Given the description of an element on the screen output the (x, y) to click on. 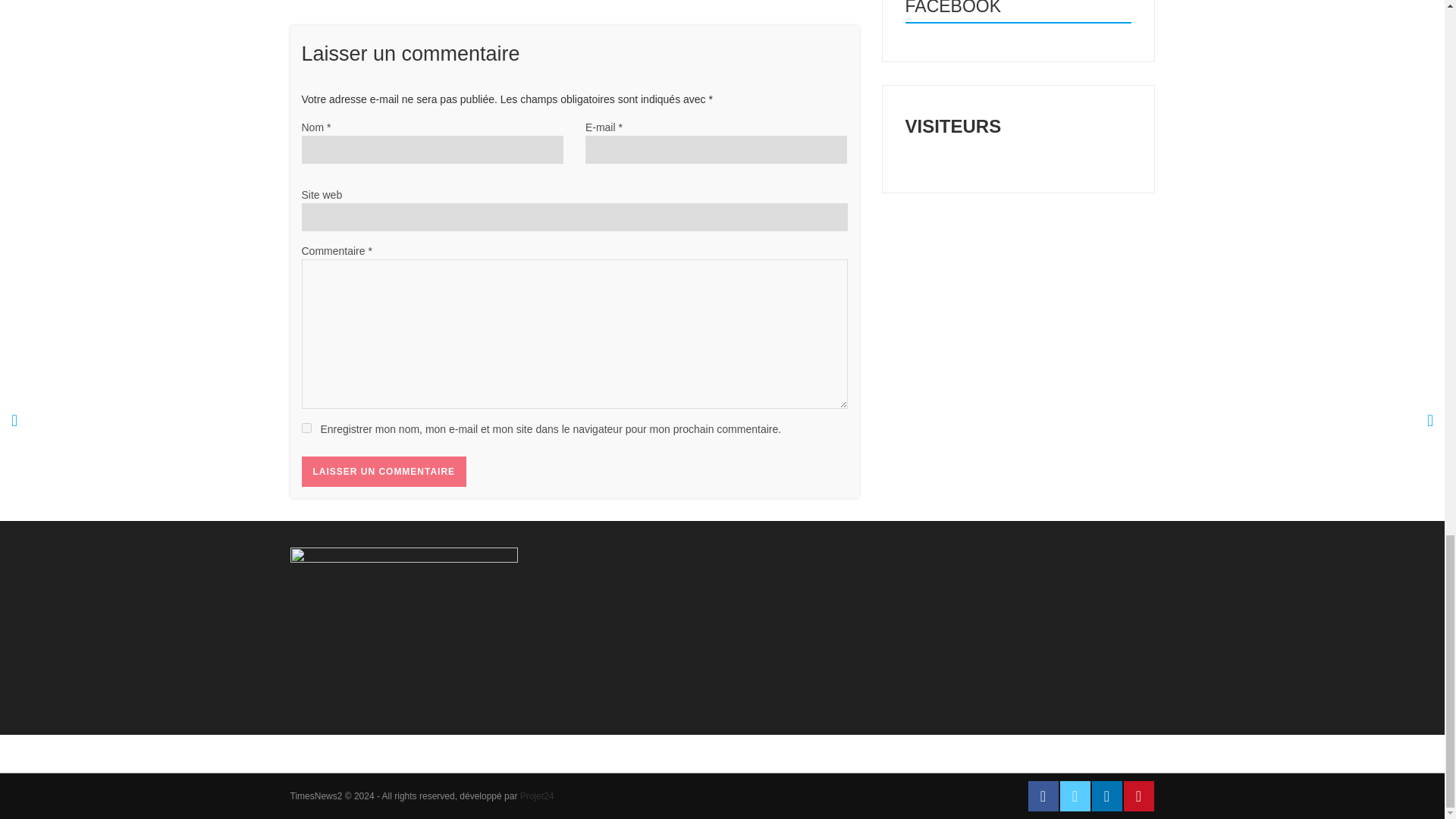
YouTube (1139, 796)
Twitter (1074, 796)
LinkedIn (1107, 796)
Facebook (1042, 796)
yes (306, 428)
Laisser un commentaire (384, 471)
